Given the description of an element on the screen output the (x, y) to click on. 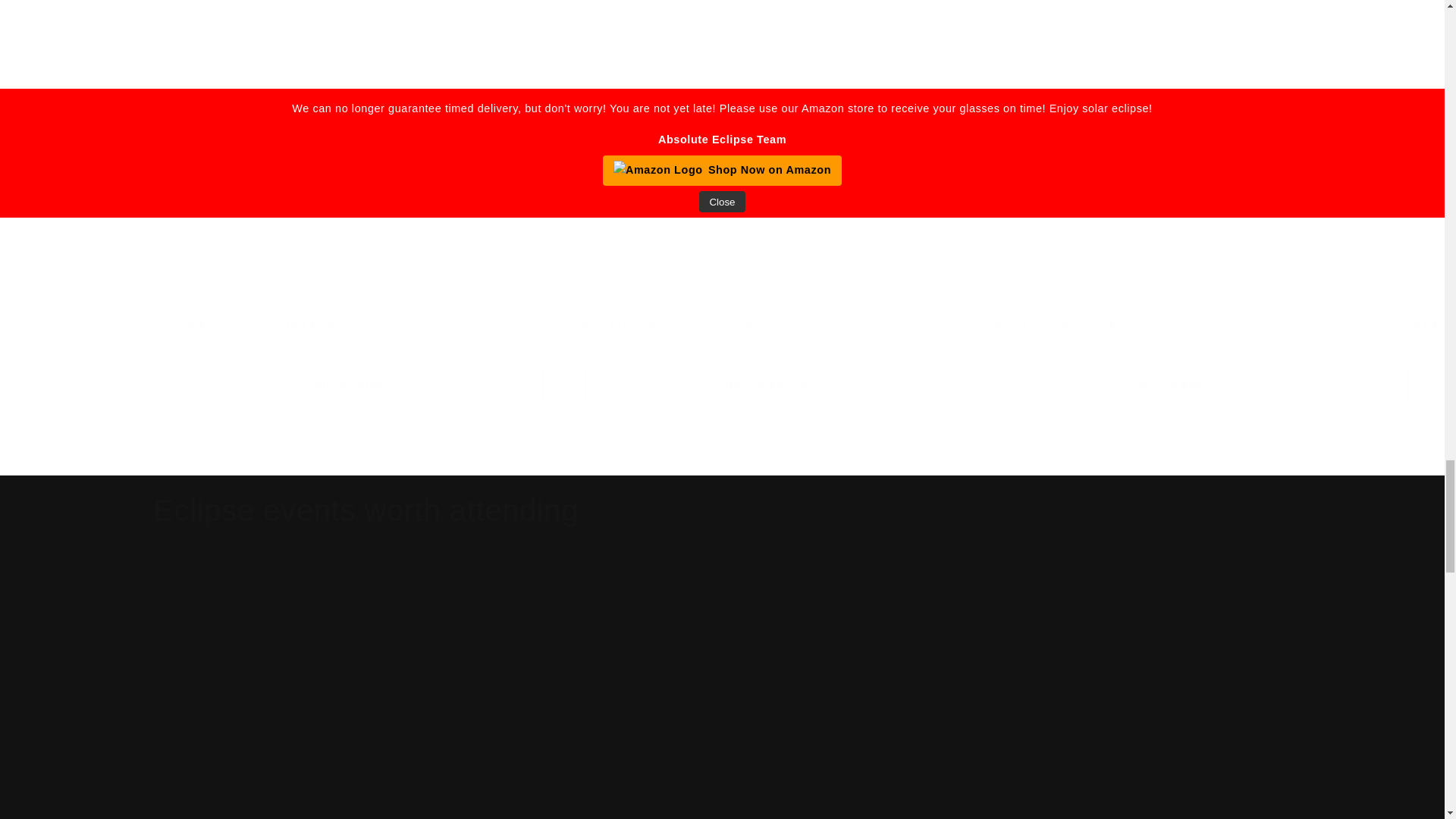
Eclipse events worth attending (365, 509)
